Given the description of an element on the screen output the (x, y) to click on. 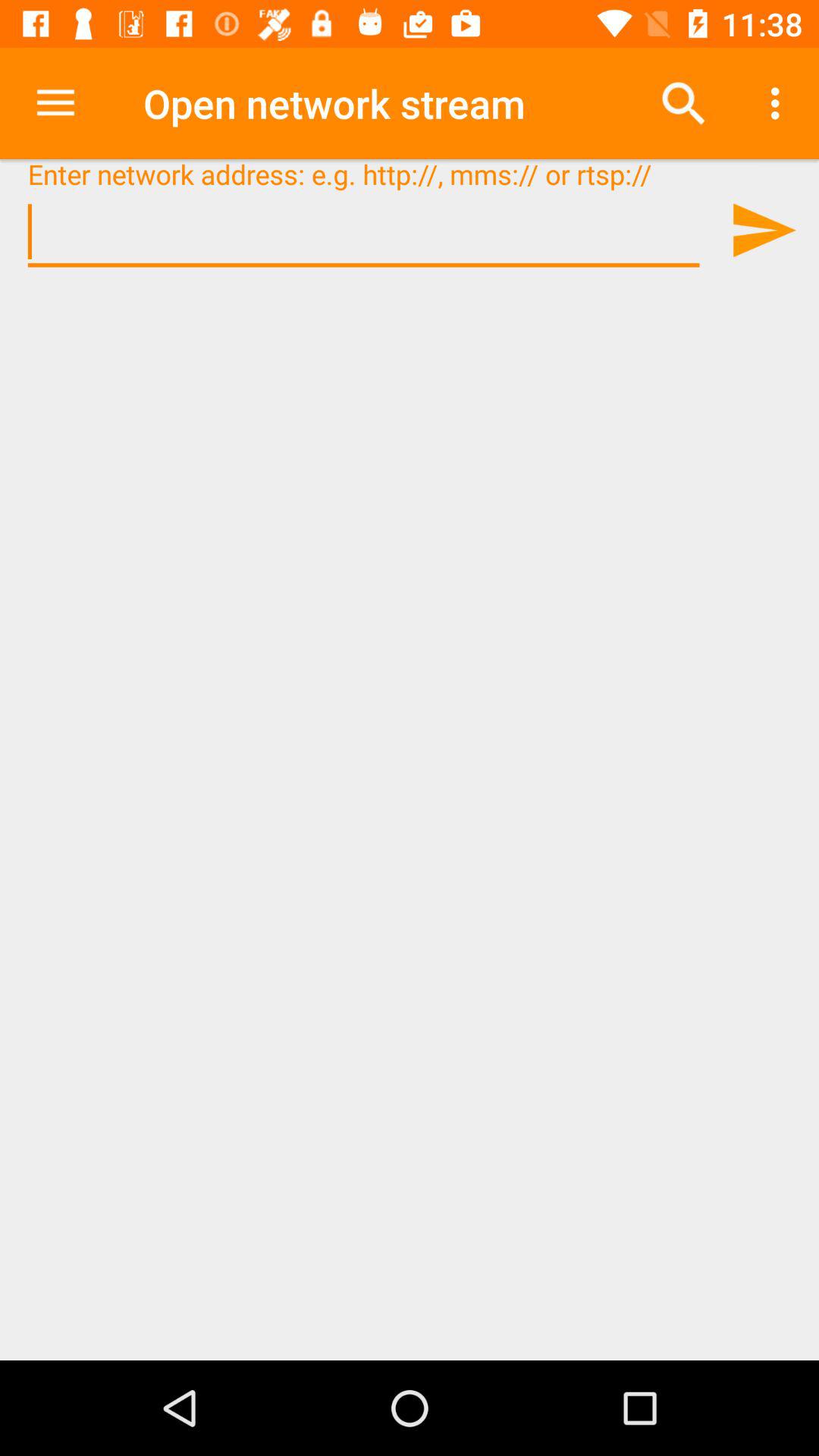
send page (763, 229)
